Given the description of an element on the screen output the (x, y) to click on. 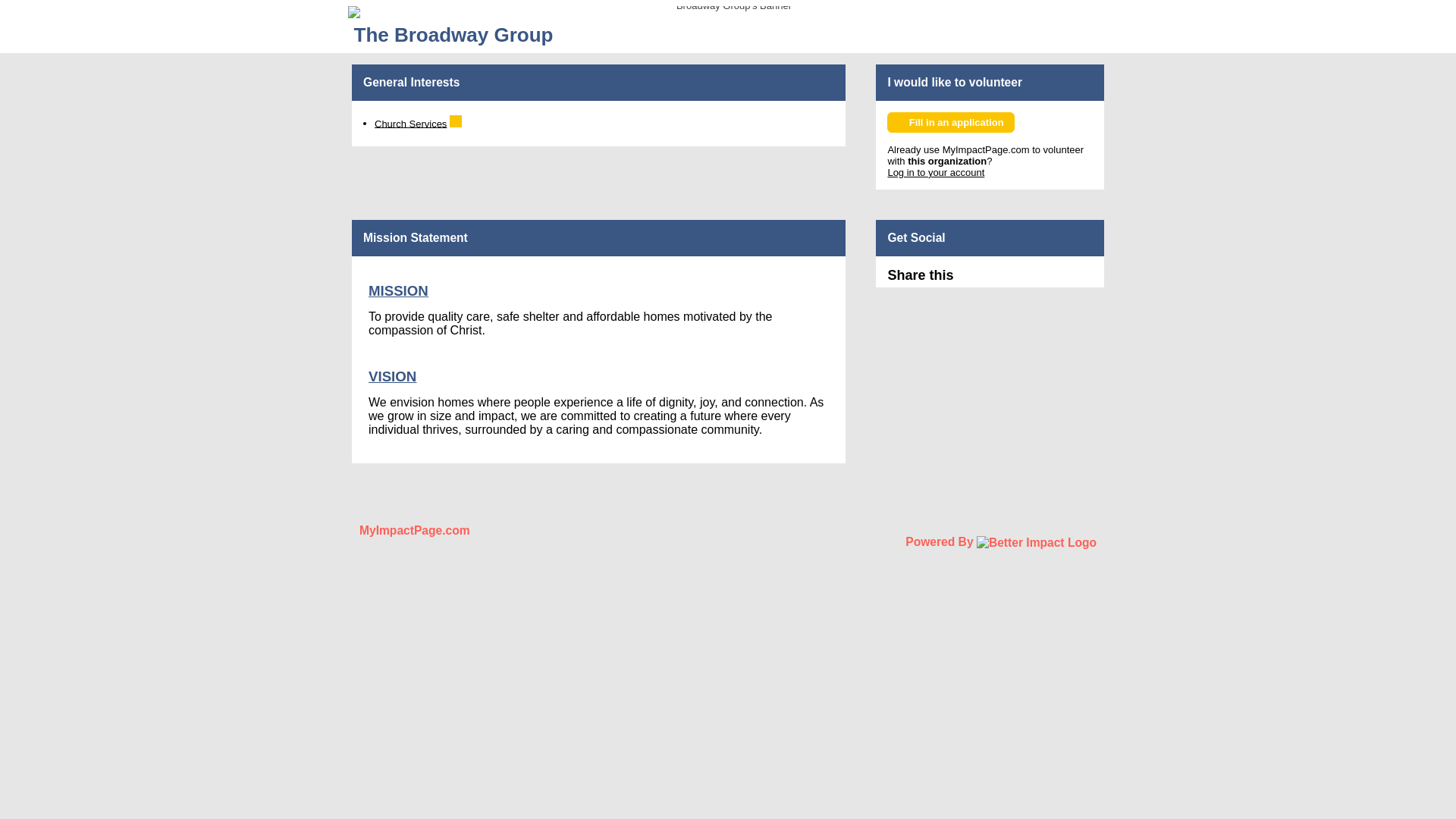
Log in to your account (935, 172)
Description for Church Services (455, 121)
Church Services (410, 122)
Fill in an application (949, 122)
